Given the description of an element on the screen output the (x, y) to click on. 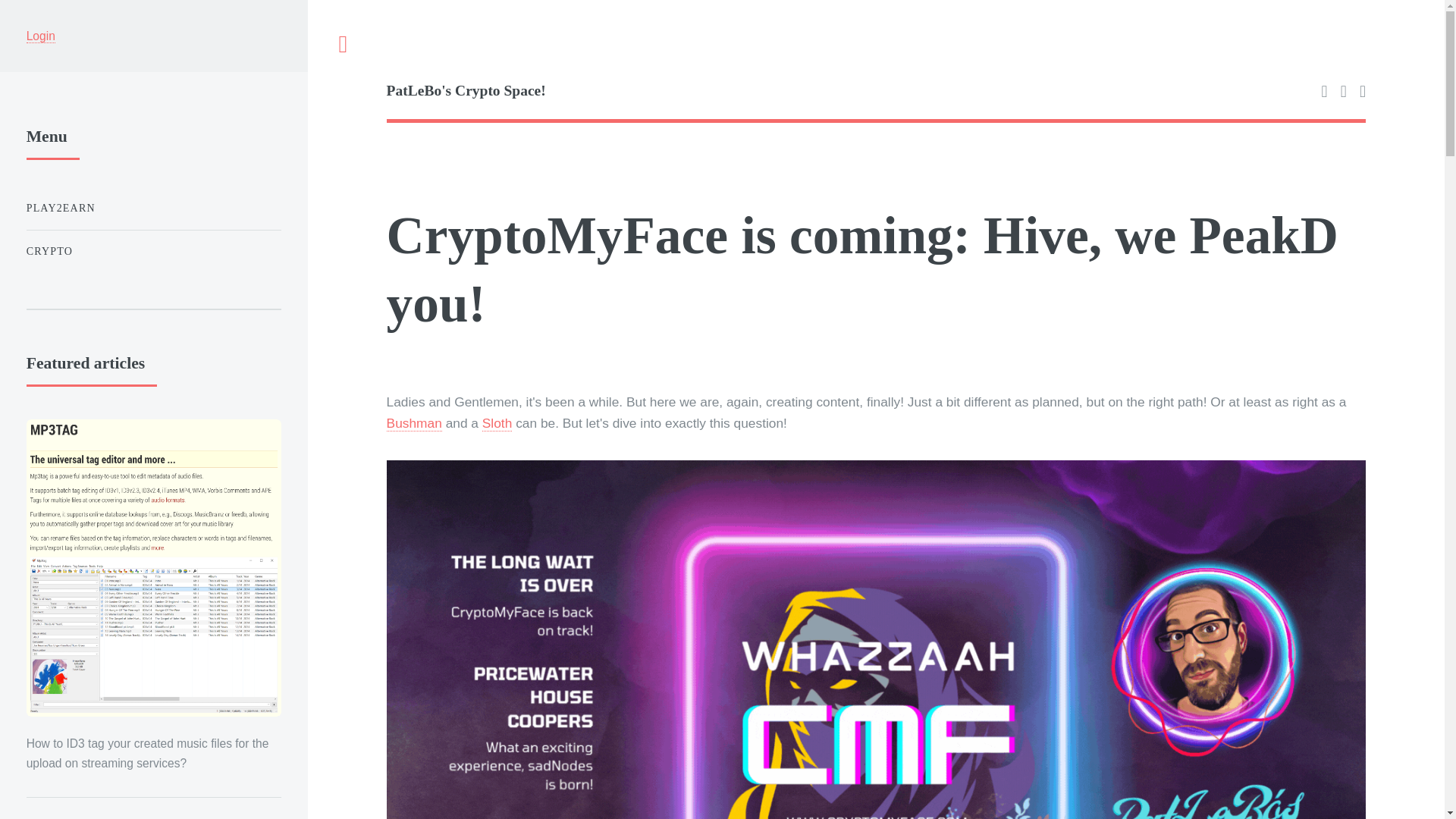
Bushman (414, 423)
Sloth (496, 423)
PatLeBo's Crypto Space!  (631, 92)
